Given the description of an element on the screen output the (x, y) to click on. 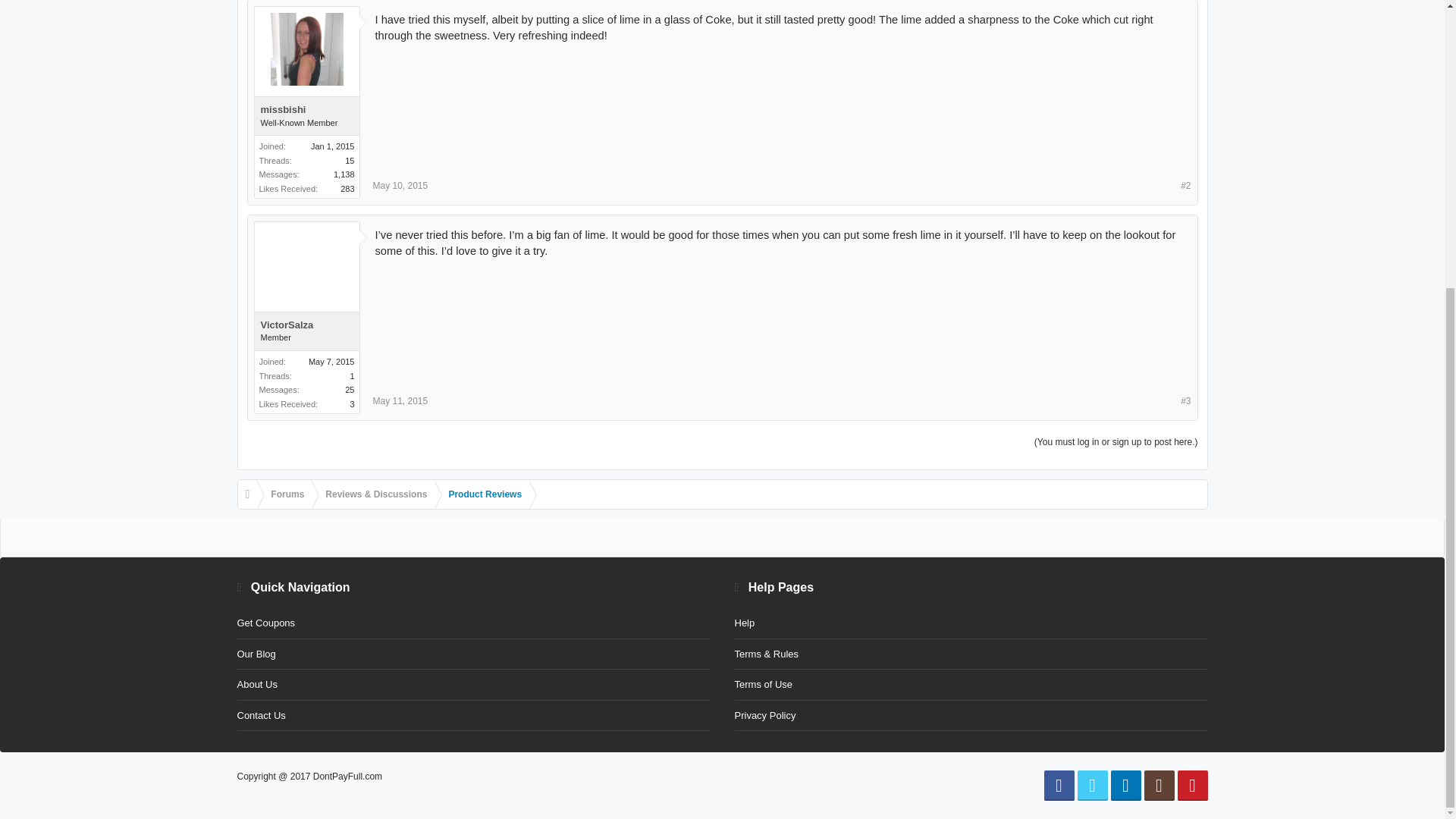
Permalink (400, 400)
Permalink (400, 185)
May 11, 2015 (400, 400)
May 10, 2015 (400, 185)
